Given the description of an element on the screen output the (x, y) to click on. 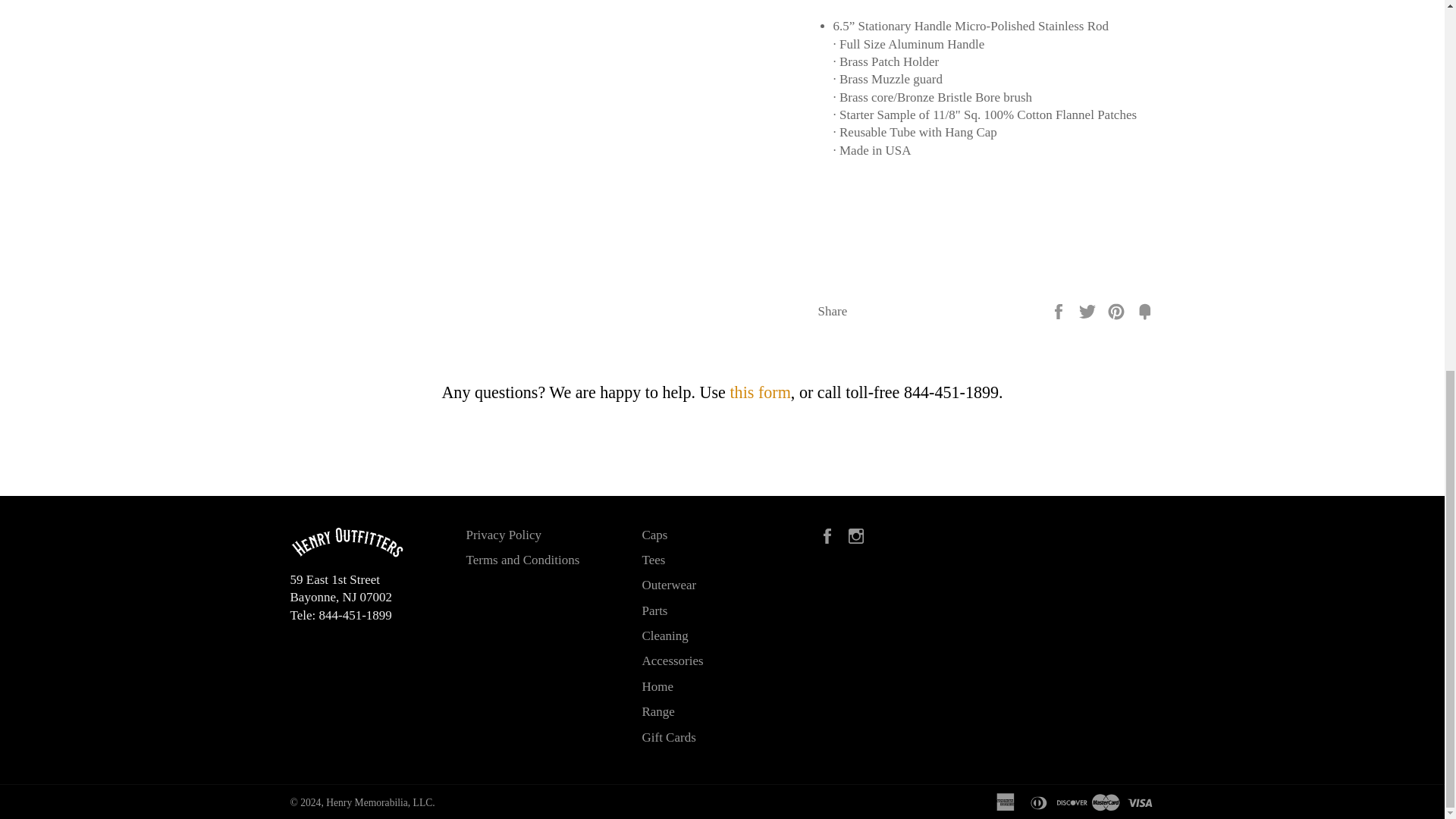
Henry Outfitters on Instagram (859, 534)
Henry Outfitters on Facebook (829, 534)
Contact (759, 392)
